Given the description of an element on the screen output the (x, y) to click on. 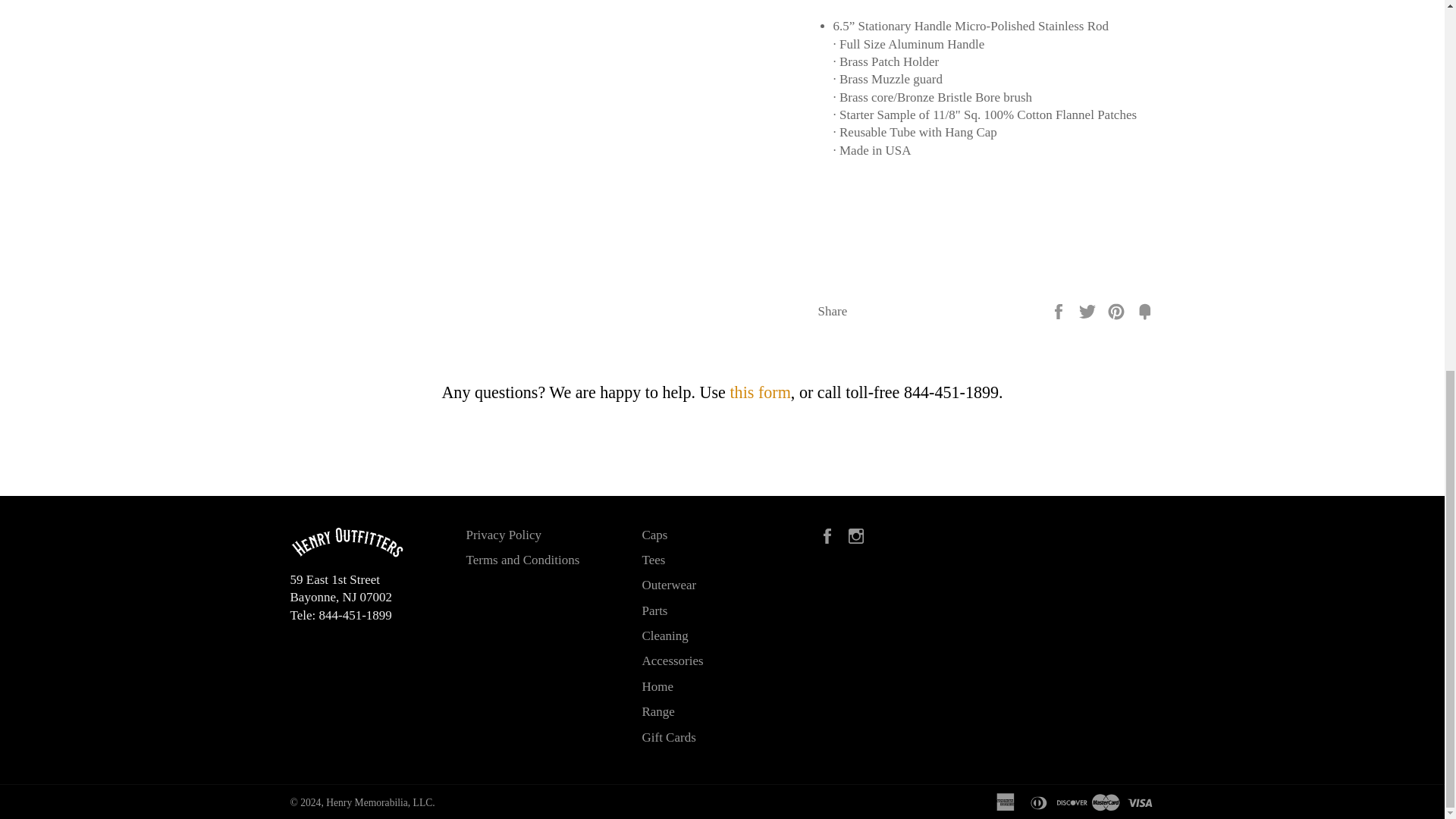
Henry Outfitters on Instagram (859, 534)
Henry Outfitters on Facebook (829, 534)
Contact (759, 392)
